Given the description of an element on the screen output the (x, y) to click on. 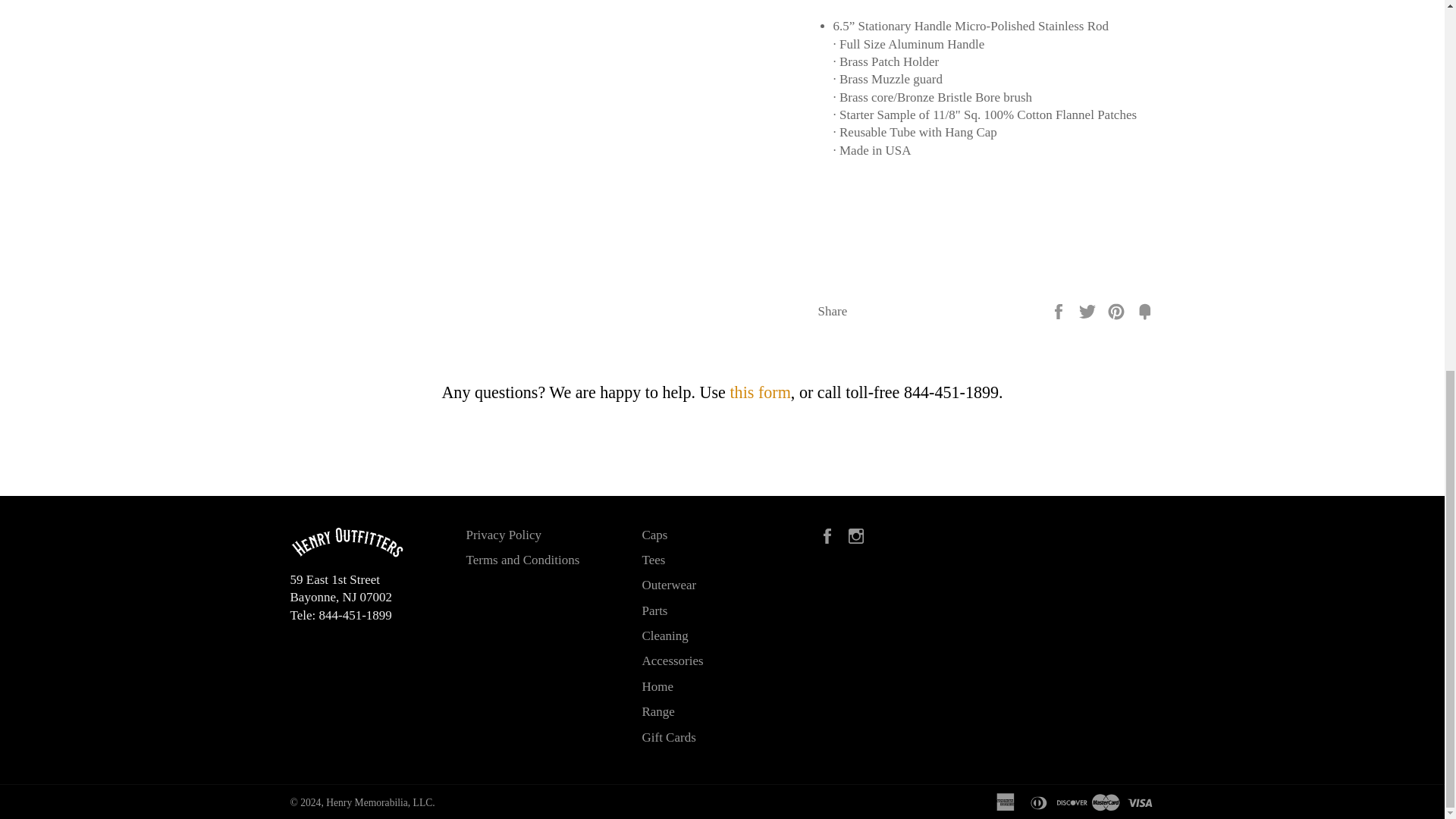
Henry Outfitters on Instagram (859, 534)
Henry Outfitters on Facebook (829, 534)
Contact (759, 392)
